Given the description of an element on the screen output the (x, y) to click on. 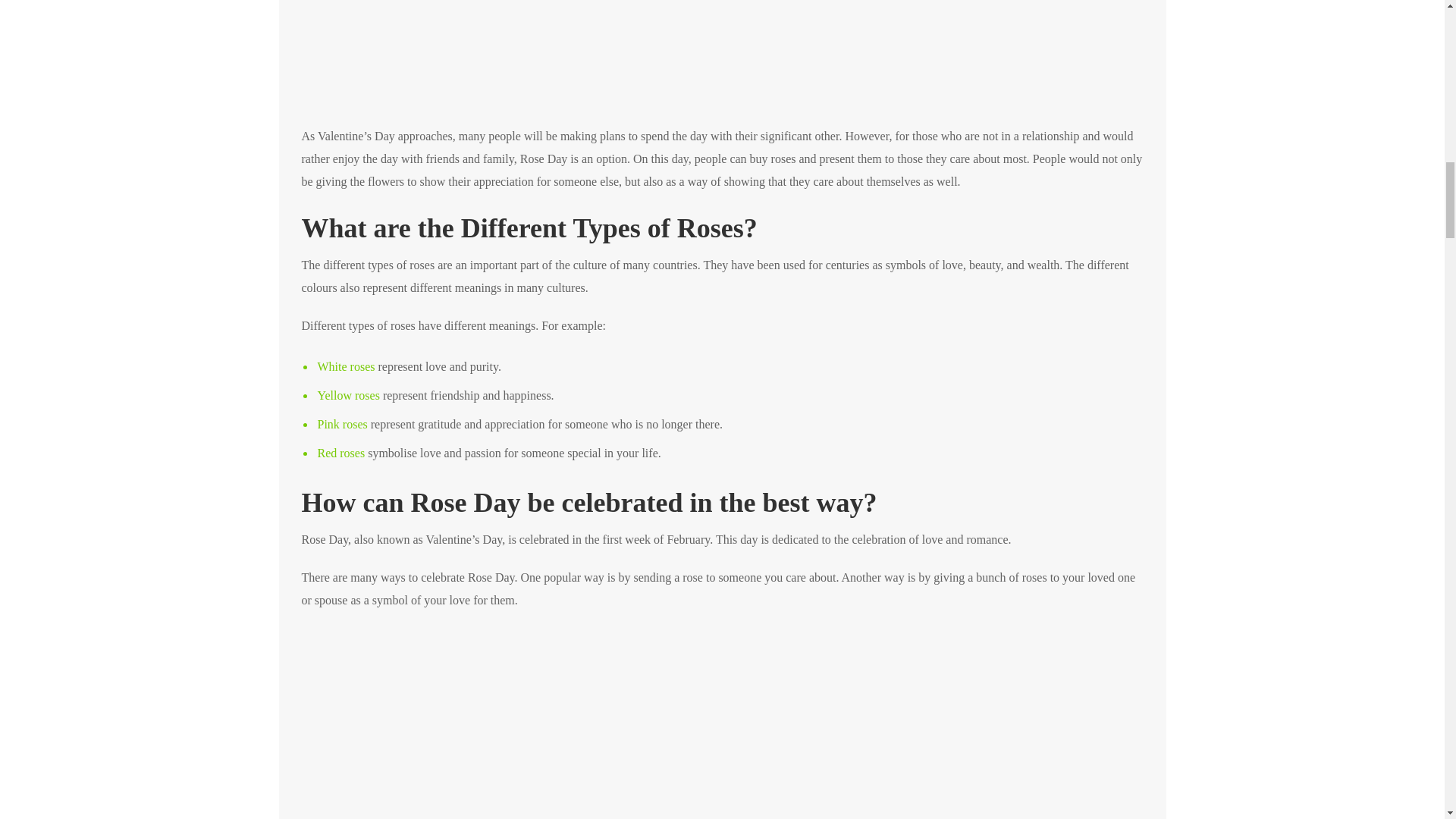
Advertisement (721, 62)
